Given the description of an element on the screen output the (x, y) to click on. 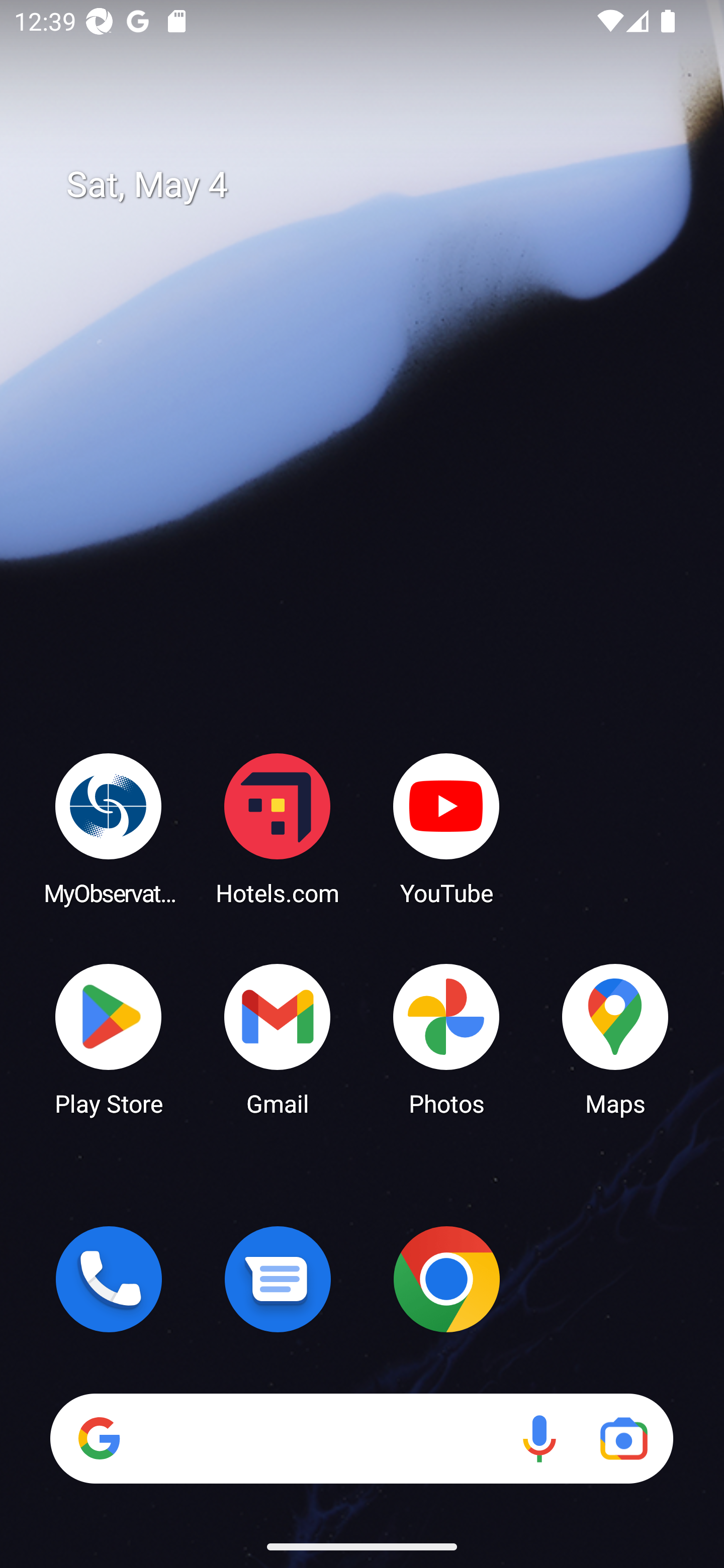
Sat, May 4 (375, 184)
MyObservatory (108, 828)
Hotels.com (277, 828)
YouTube (445, 828)
Play Store (108, 1038)
Gmail (277, 1038)
Photos (445, 1038)
Maps (615, 1038)
Phone (108, 1279)
Messages (277, 1279)
Chrome (446, 1279)
Search Voice search Google Lens (361, 1438)
Voice search (539, 1438)
Google Lens (623, 1438)
